Given the description of an element on the screen output the (x, y) to click on. 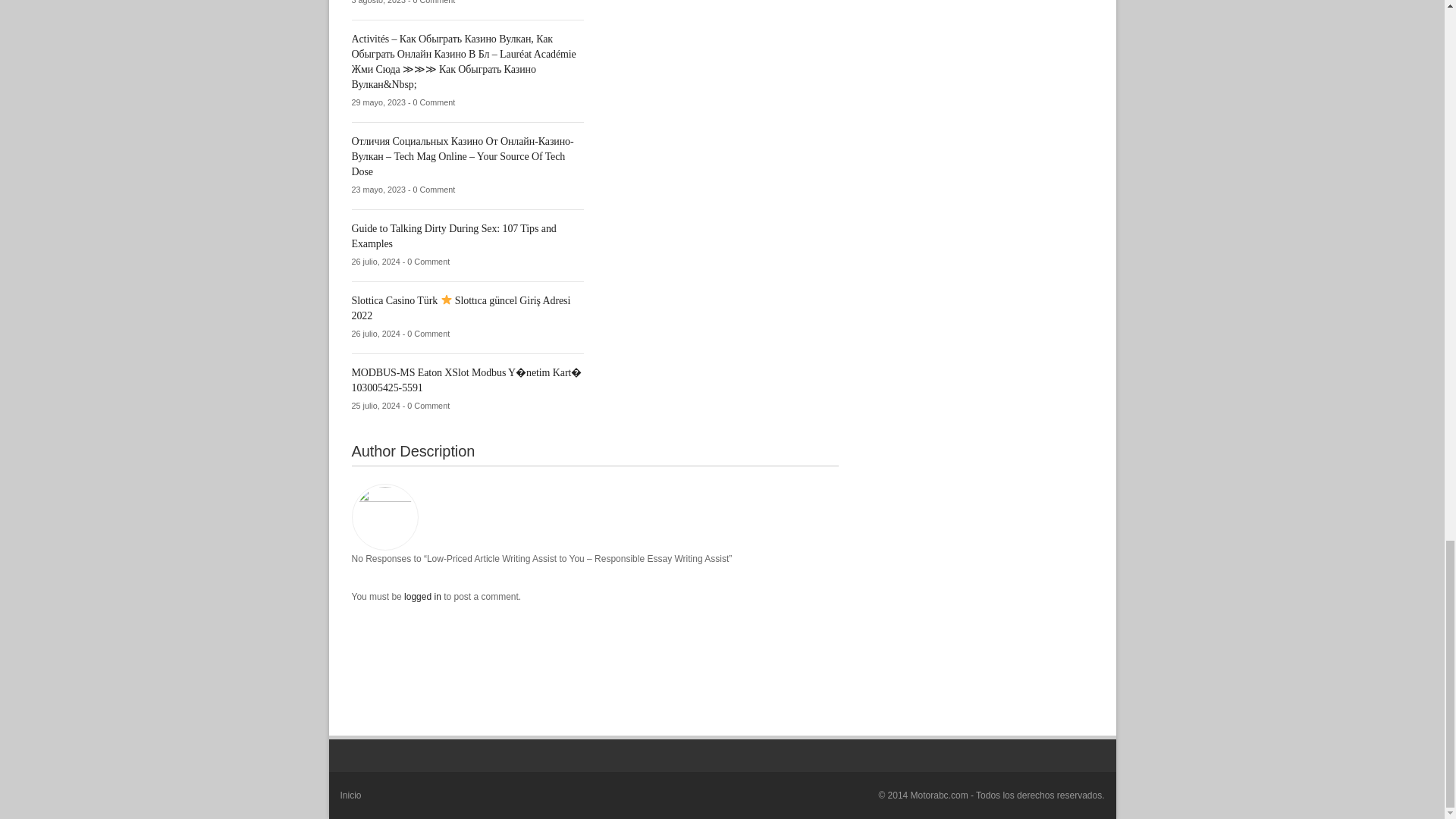
Guide to Talking Dirty During Sex: 107 Tips and Examples (454, 235)
Guide to Talking Dirty During Sex: 107 Tips and Examples (454, 235)
logged in (424, 596)
